Given the description of an element on the screen output the (x, y) to click on. 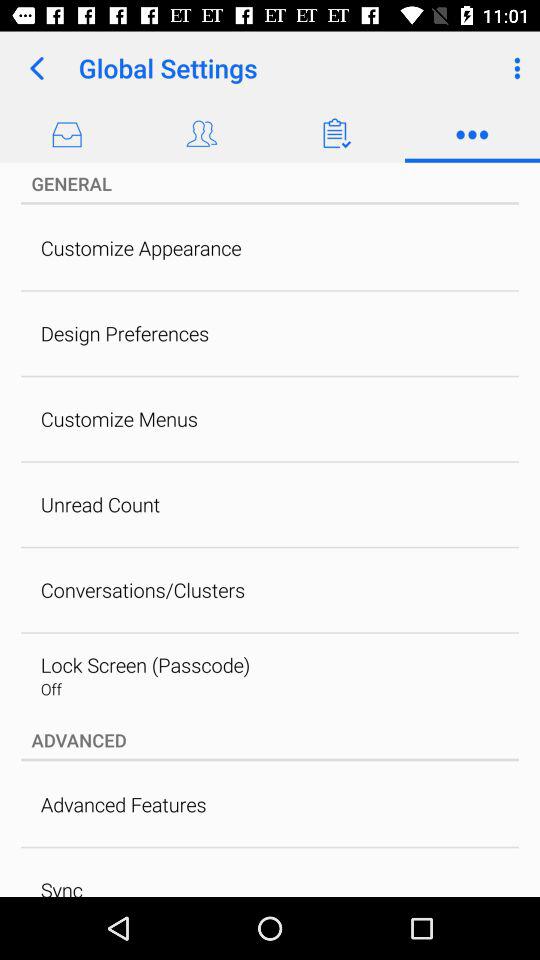
jump until unread count item (100, 504)
